Given the description of an element on the screen output the (x, y) to click on. 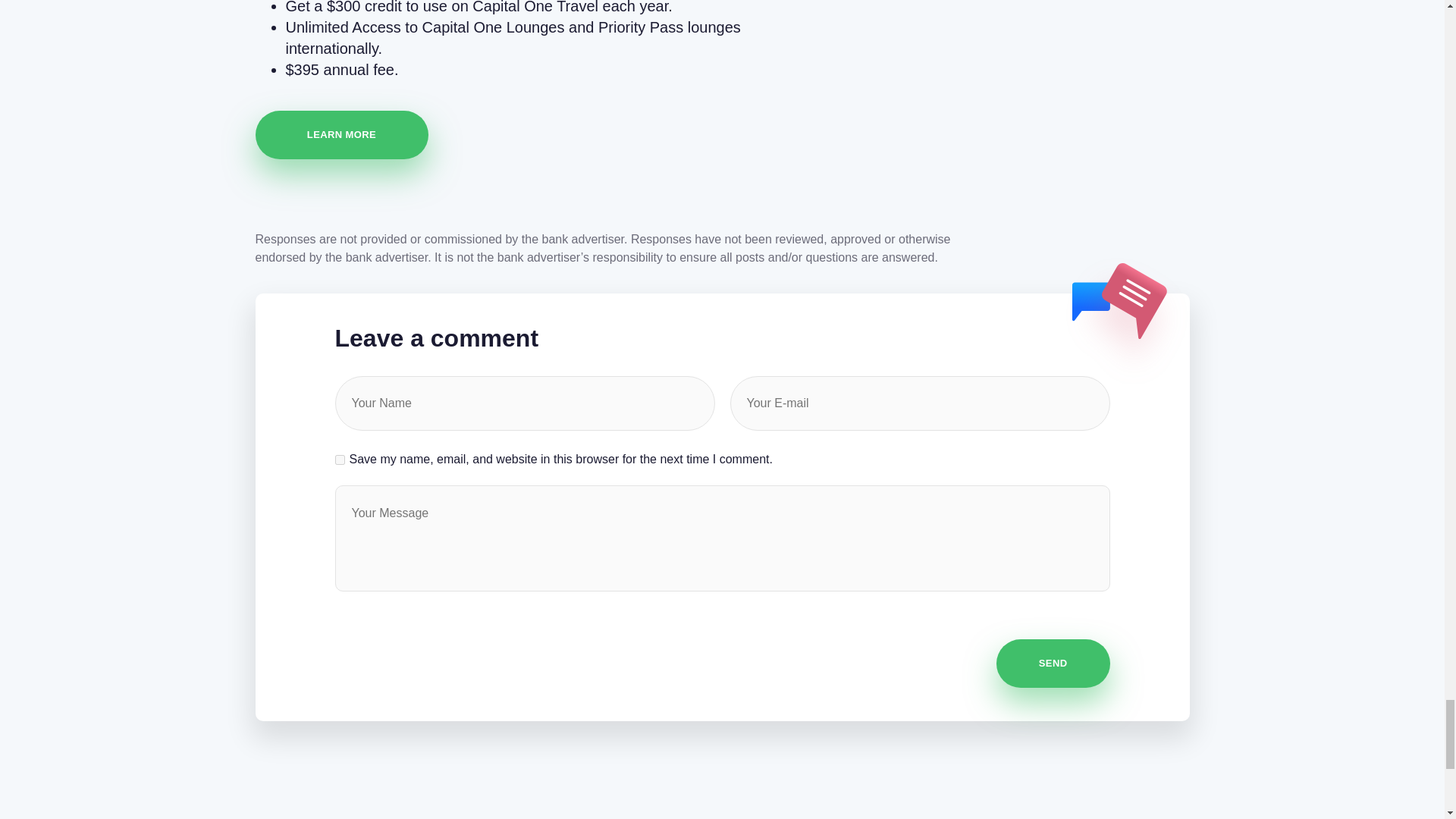
yes (339, 460)
Send (1052, 663)
